Given the description of an element on the screen output the (x, y) to click on. 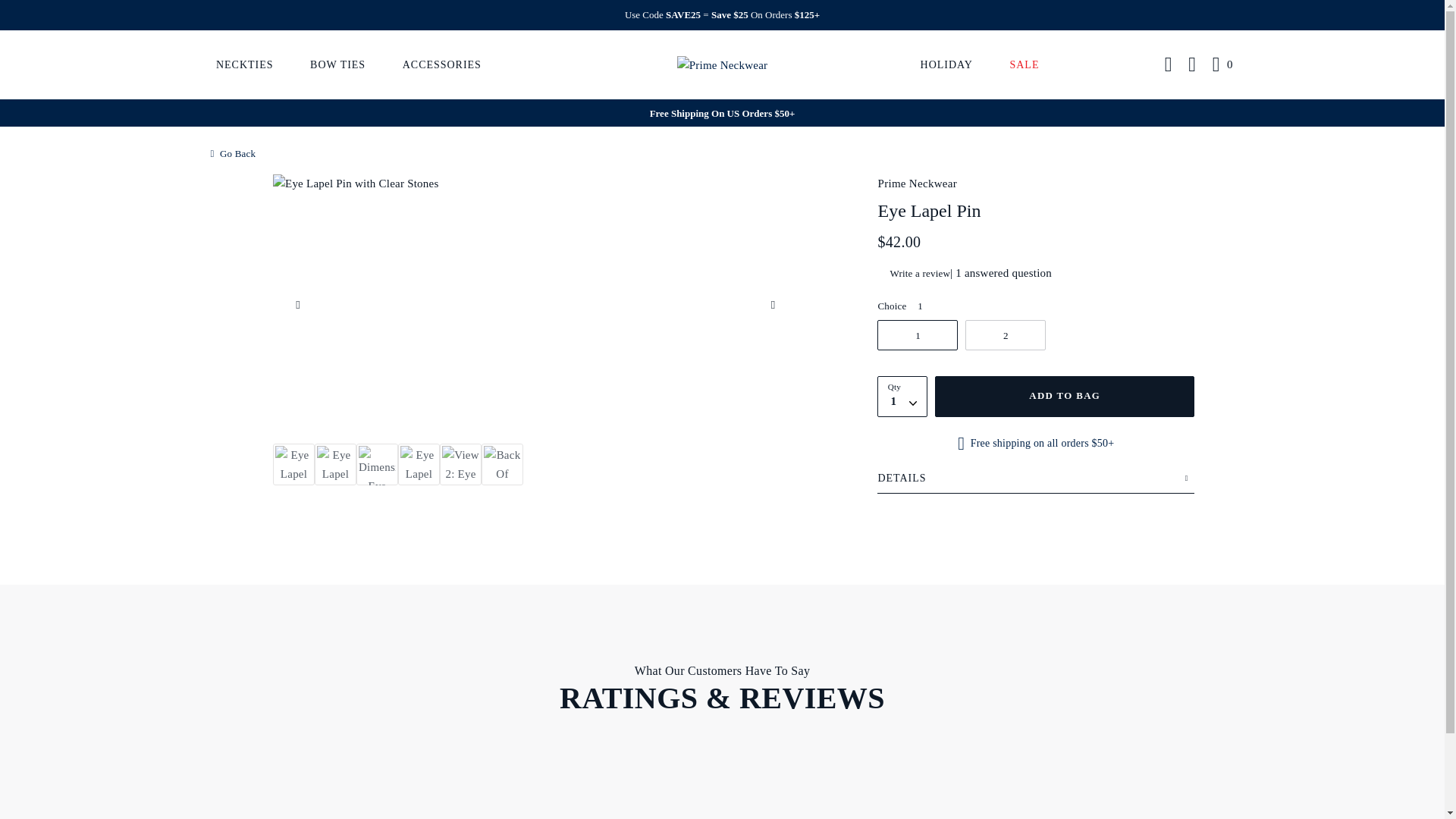
BOW TIES (337, 64)
Accessories (441, 64)
Neckties (245, 64)
Prime Neckwear (722, 64)
Holiday (946, 64)
Bow Ties (337, 64)
NECKTIES (245, 64)
cart (1223, 64)
